Given the description of an element on the screen output the (x, y) to click on. 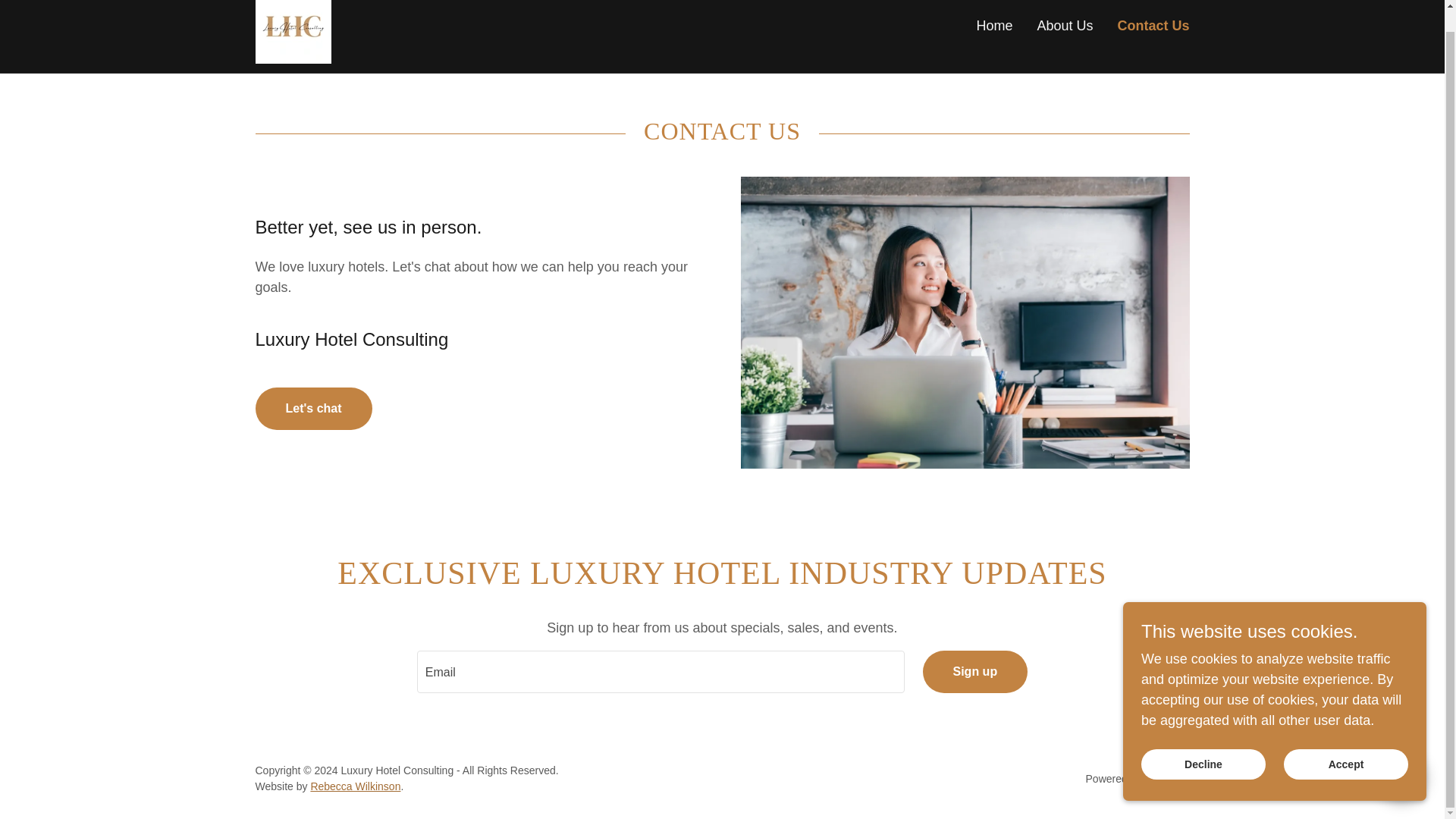
GoDaddy (1166, 778)
Decline (1203, 743)
Rebecca Wilkinson (355, 786)
Sign up (974, 671)
Contact Us (1152, 25)
Accept (1345, 743)
About Us (1064, 25)
Home (993, 25)
Luxury Hotel Consulting (292, 24)
Let's chat (312, 408)
